Given the description of an element on the screen output the (x, y) to click on. 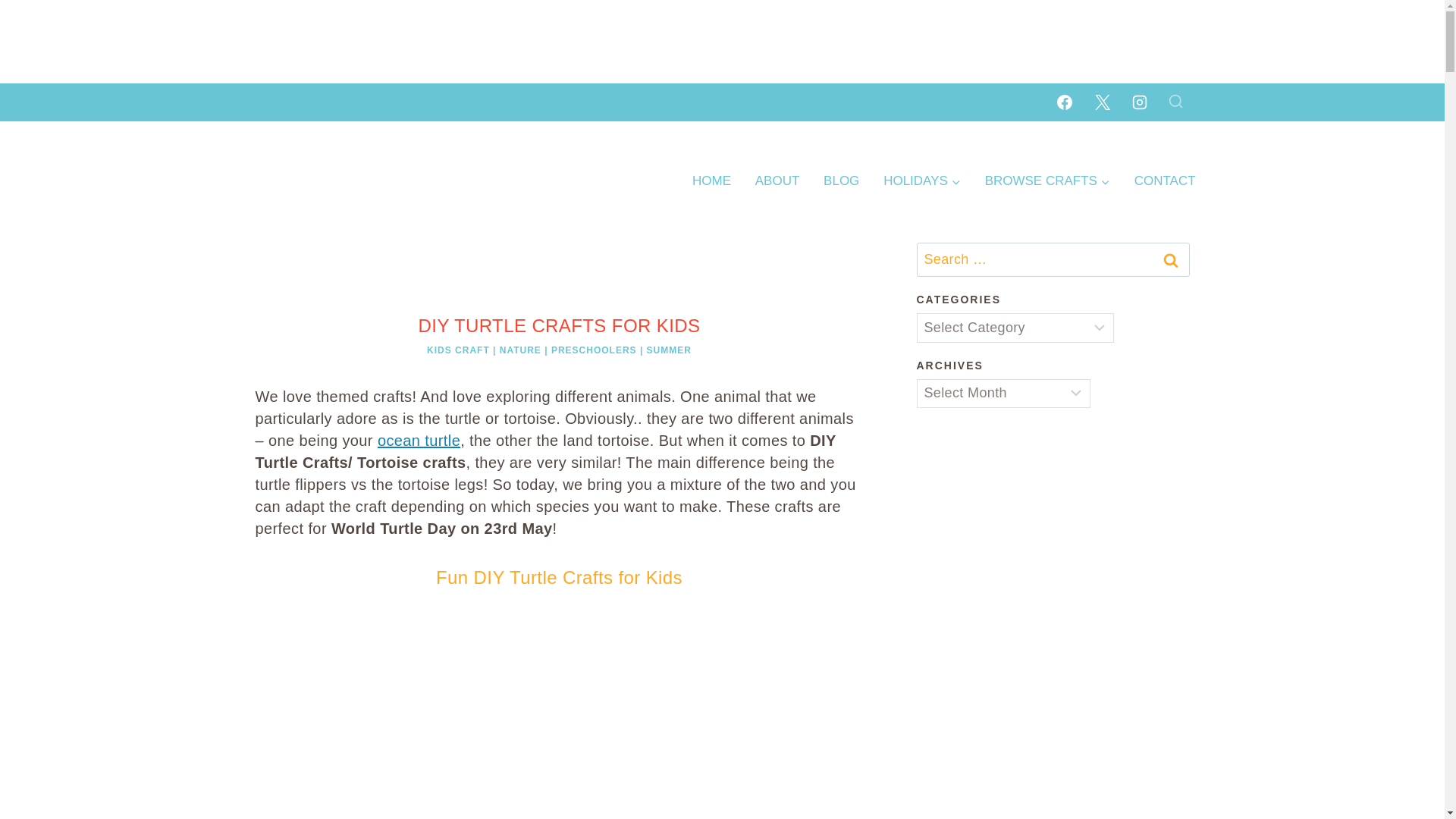
Search (1170, 259)
BLOG (840, 180)
BROWSE CRAFTS (1047, 180)
CONTACT (1165, 180)
ABOUT (776, 180)
HOLIDAYS (921, 180)
Search (1170, 259)
HOME (710, 180)
